Given the description of an element on the screen output the (x, y) to click on. 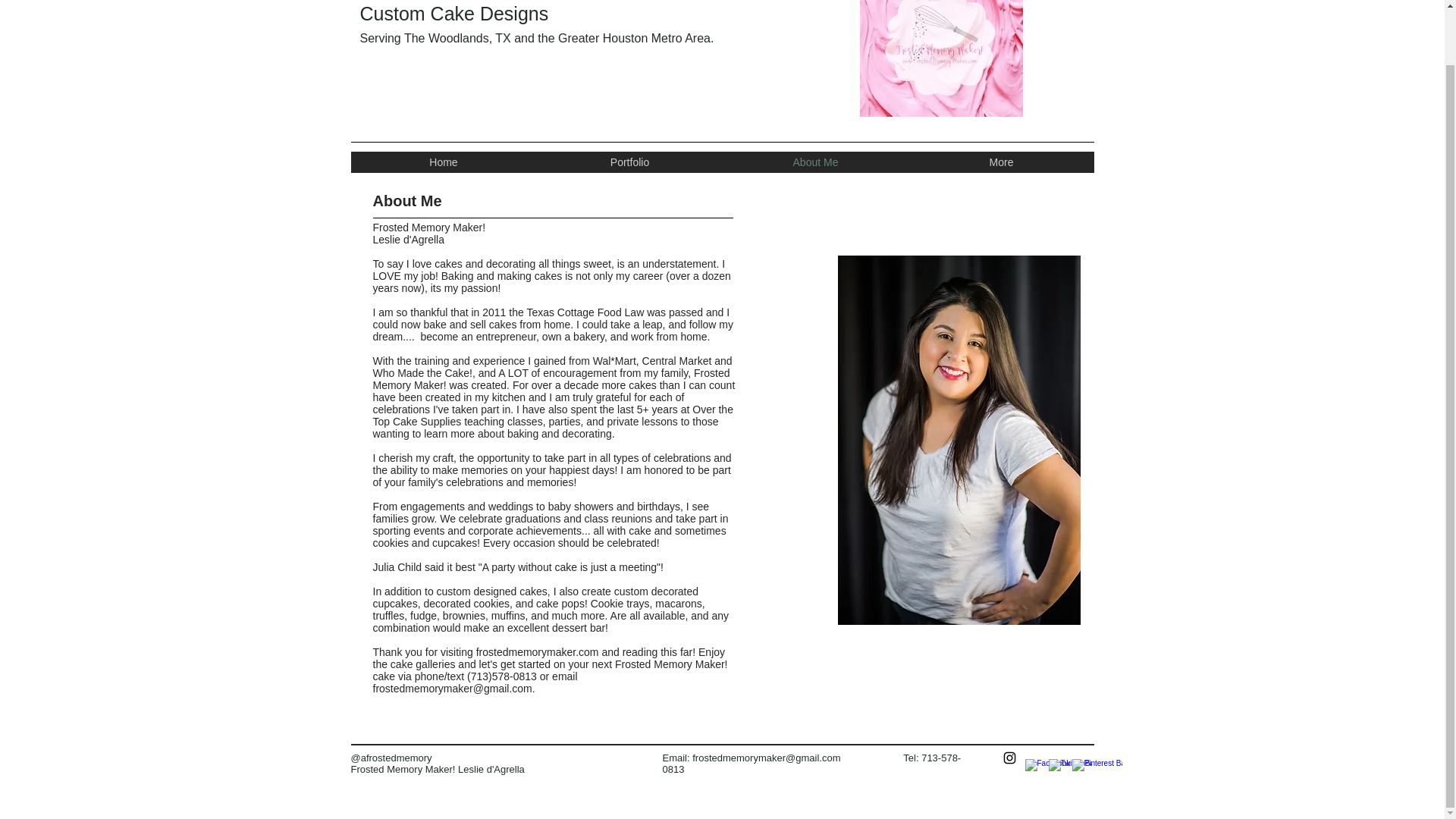
About Me (814, 161)
Portfolio (629, 161)
Home (442, 161)
